Given the description of an element on the screen output the (x, y) to click on. 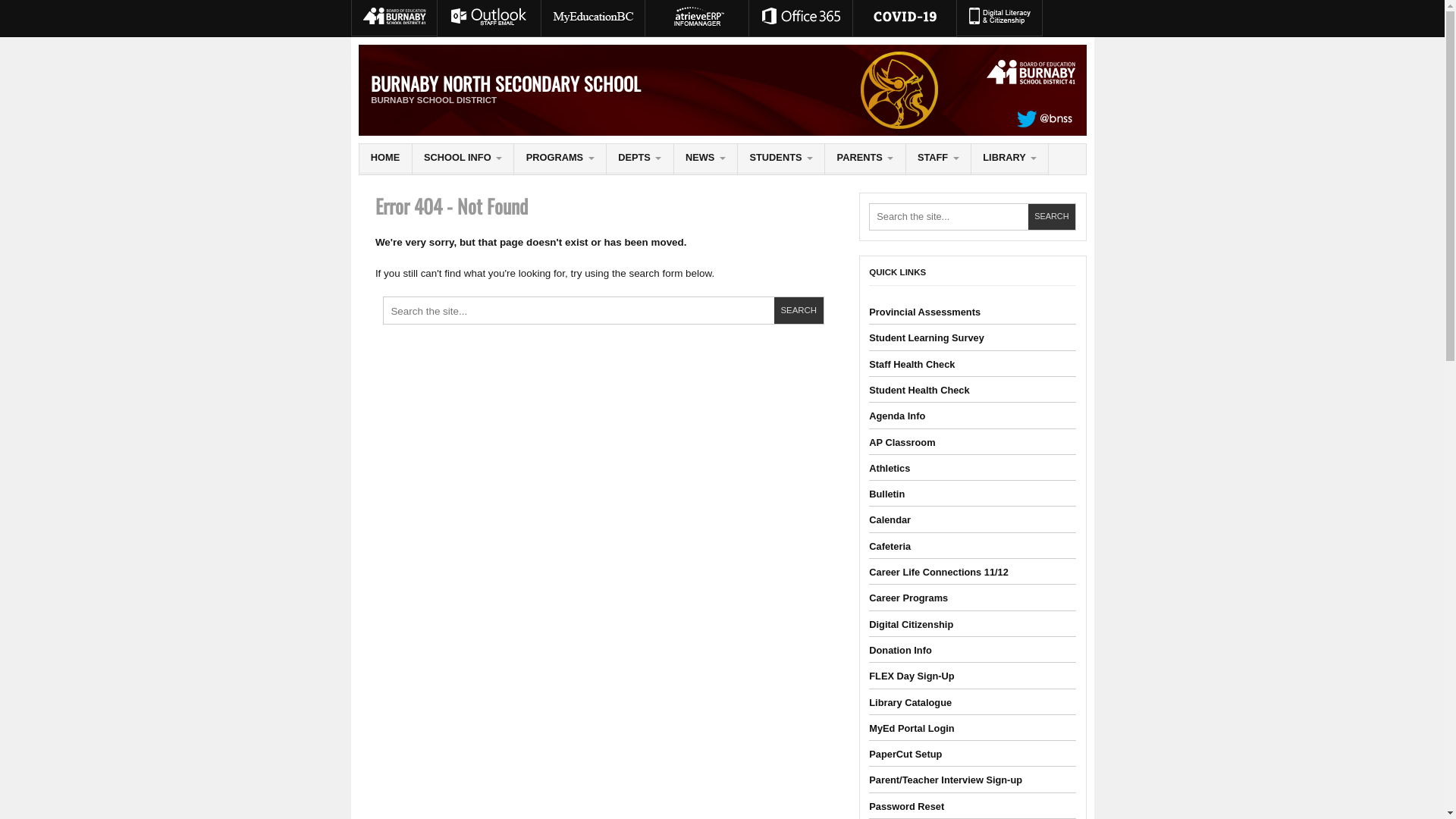
Career Life Connections 11/12 Element type: text (938, 571)
DEPTS Element type: text (639, 159)
Agenda Info Element type: text (897, 415)
Calendar Element type: text (889, 519)
HOME Element type: text (385, 159)
STUDENTS Element type: text (780, 159)
Athletics Element type: text (889, 467)
BURNABY NORTH SECONDARY SCHOOL Element type: text (505, 83)
Password Reset Element type: text (906, 806)
NEWS Element type: text (705, 159)
FLEX Day Sign-Up Element type: text (911, 675)
PARENTS Element type: text (864, 159)
LIBRARY Element type: text (1009, 159)
Bulletin Element type: text (886, 493)
Donation Info Element type: text (900, 649)
Cafeteria Element type: text (889, 546)
STAFF Element type: text (938, 159)
MyEd Portal Login Element type: text (911, 728)
Career Programs Element type: text (908, 597)
Digital Citizenship Element type: text (911, 624)
Parent/Teacher Interview Sign-up Element type: text (945, 779)
PROGRAMS Element type: text (559, 159)
Student Health Check Element type: text (919, 389)
Staff Health Check Element type: text (911, 364)
AP Classroom Element type: text (902, 442)
SCHOOL INFO Element type: text (463, 159)
Provincial Assessments Element type: text (924, 311)
PaperCut Setup Element type: text (905, 753)
Library Catalogue Element type: text (910, 702)
Search Element type: text (798, 310)
Search Element type: text (1051, 216)
Student Learning Survey Element type: text (926, 337)
